Given the description of an element on the screen output the (x, y) to click on. 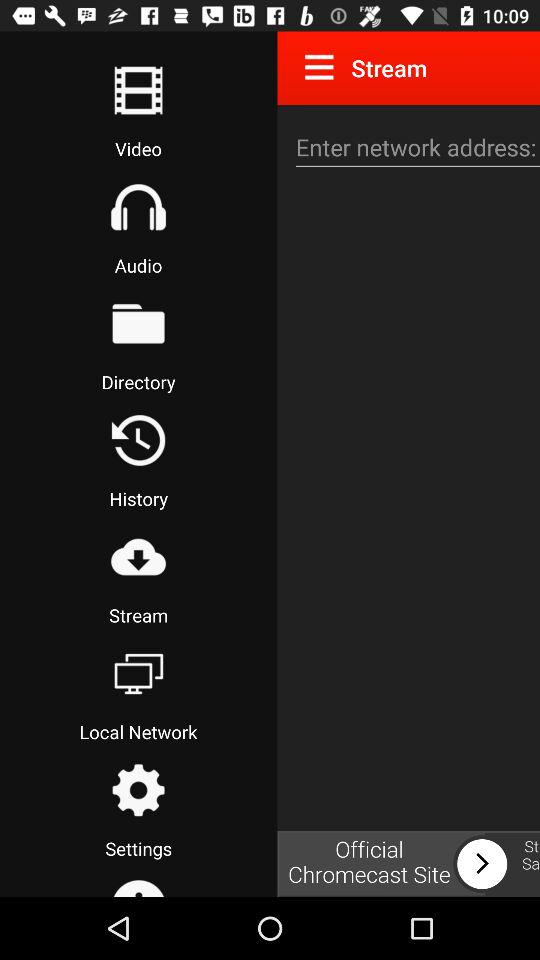
open local network (138, 673)
